Given the description of an element on the screen output the (x, y) to click on. 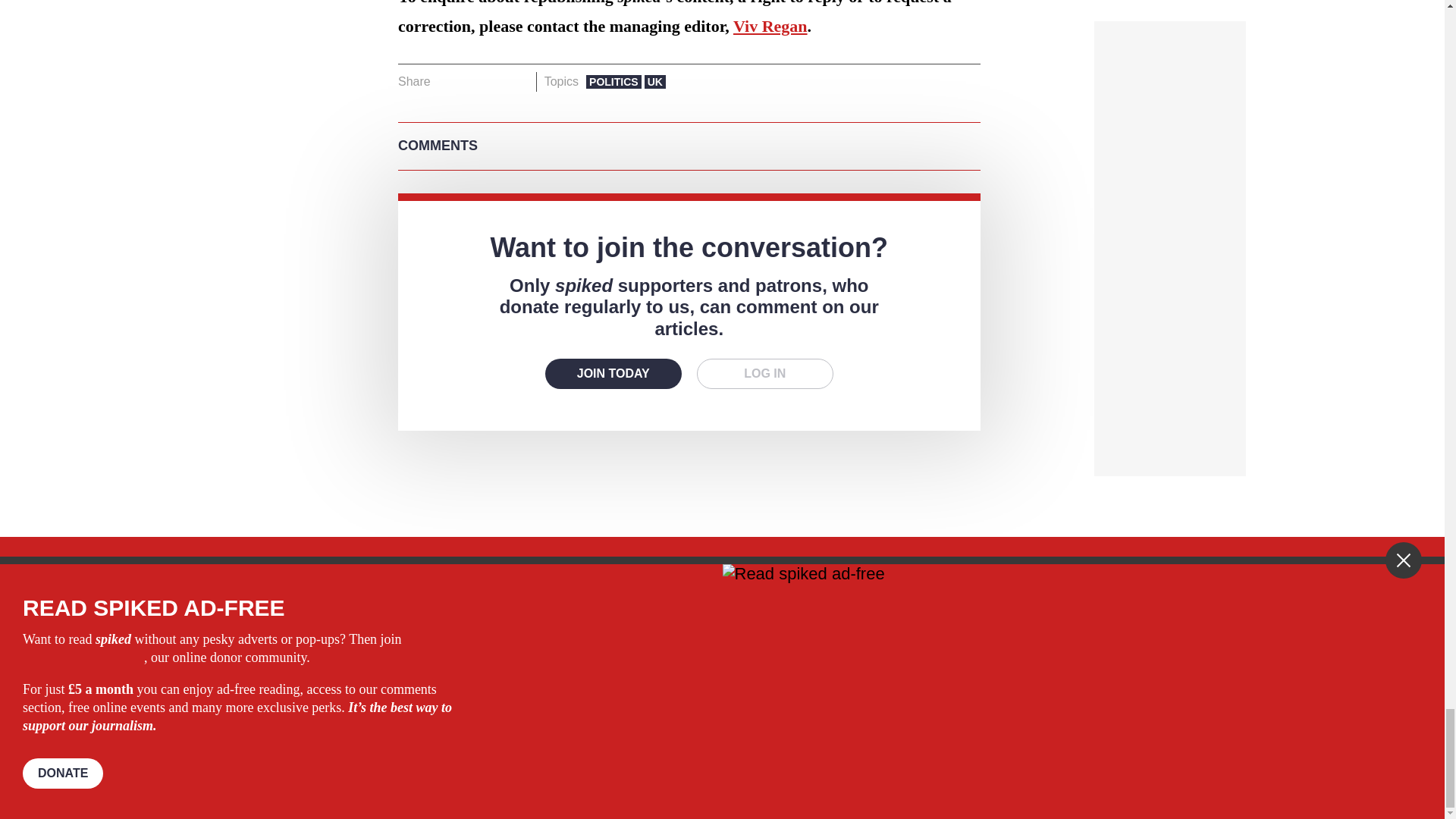
Share on Whatsapp (494, 81)
Share on Facebook (448, 81)
Share on Email (518, 81)
Share on Twitter (471, 81)
